Given the description of an element on the screen output the (x, y) to click on. 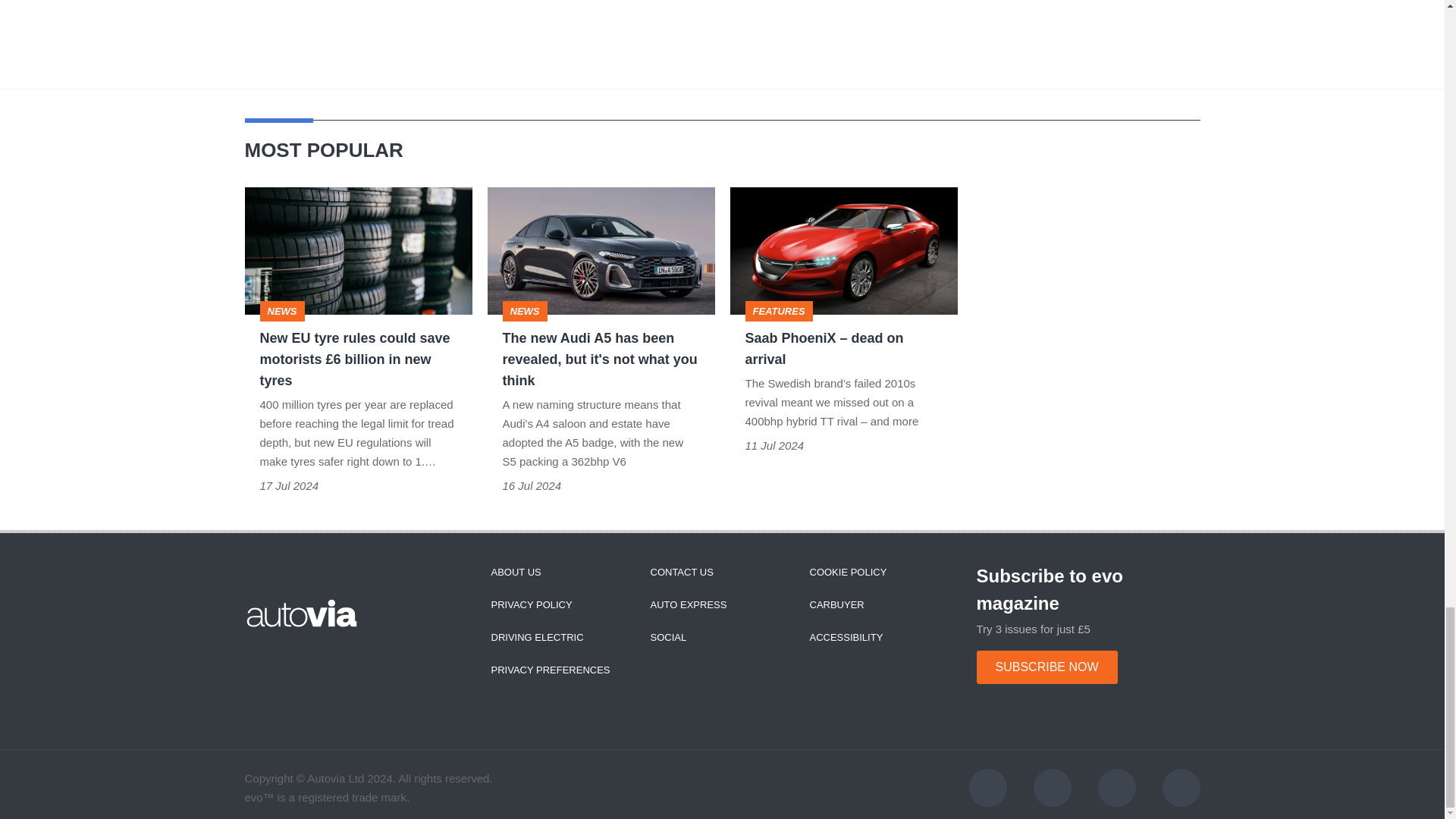
Subscribe now (1047, 666)
